Given the description of an element on the screen output the (x, y) to click on. 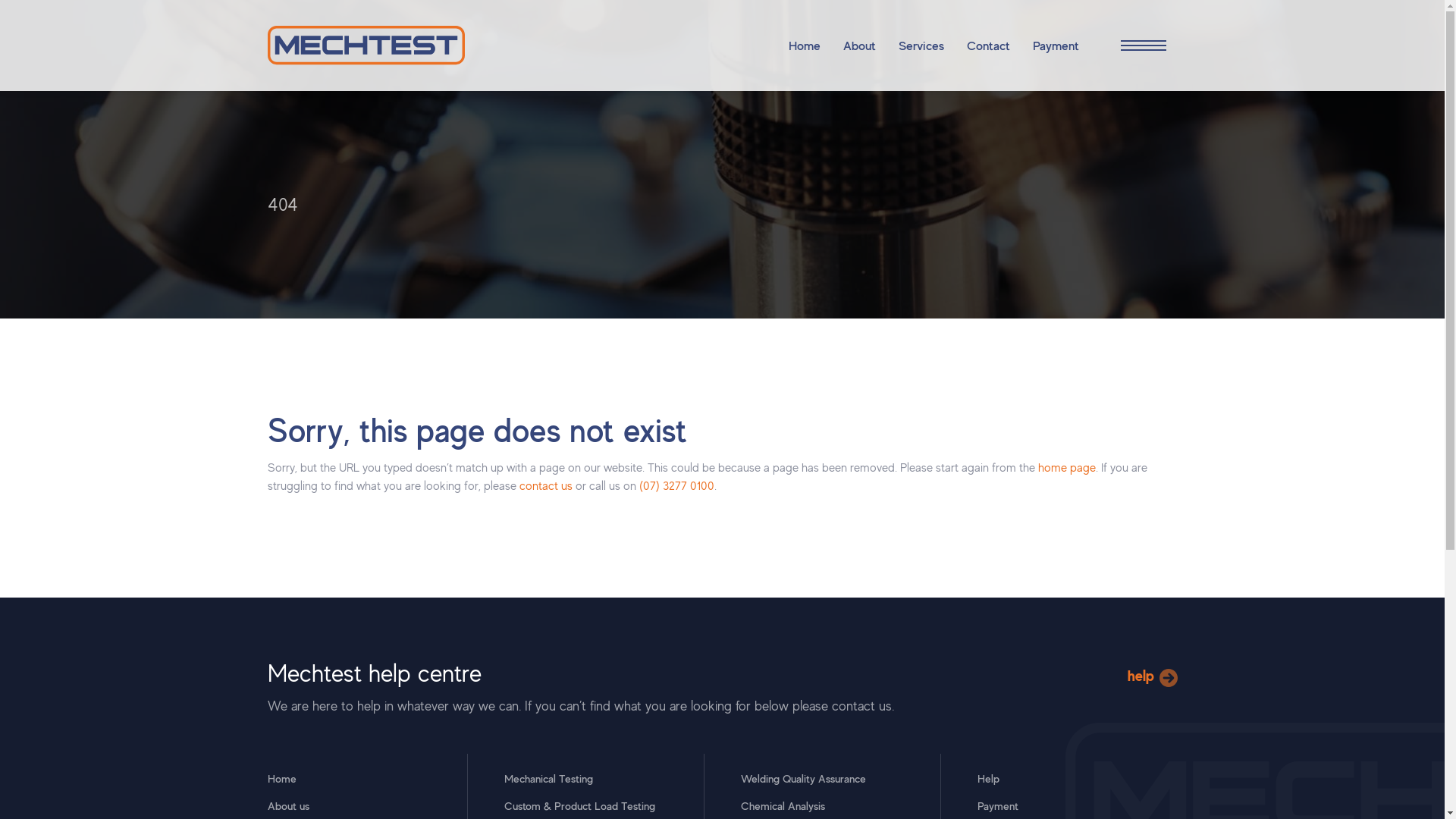
Contact Element type: text (987, 45)
Mechanical Testing Element type: text (547, 778)
Payment Element type: text (1055, 45)
help Element type: text (1151, 676)
Help Element type: text (987, 778)
contact us Element type: text (544, 484)
Payment Element type: text (996, 805)
Chemical Analysis Element type: text (782, 805)
Services Element type: text (920, 45)
About Element type: text (859, 45)
home page Element type: text (1066, 466)
Welding Quality Assurance Element type: text (802, 778)
About us Element type: text (287, 805)
Open Site Navigation Element type: hover (1138, 45)
Custom & Product Load Testing Element type: text (578, 805)
Home Element type: text (280, 778)
Home Element type: text (804, 45)
(07) 3277 0100 Element type: text (675, 484)
